Given the description of an element on the screen output the (x, y) to click on. 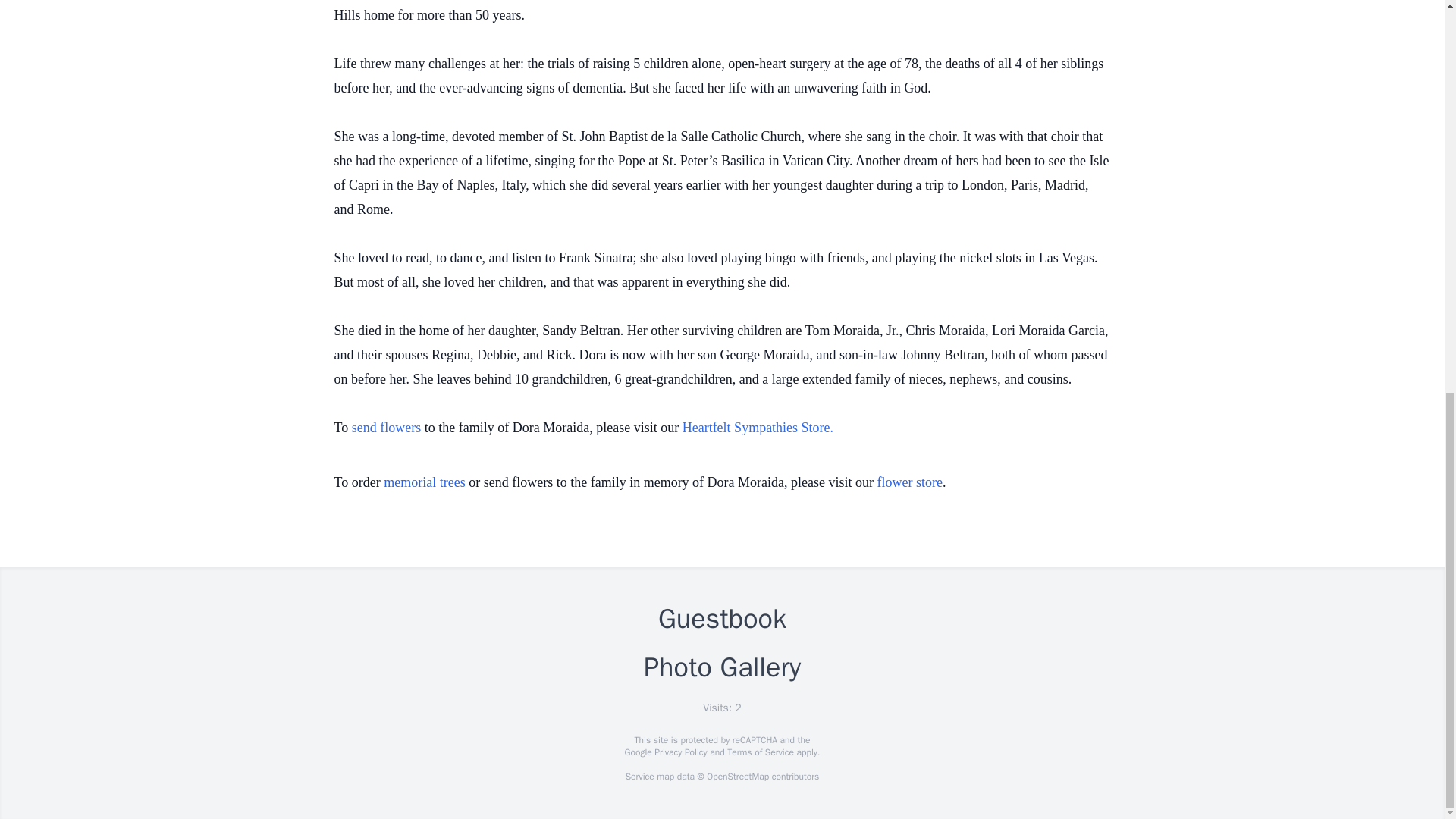
memorial trees (424, 482)
Terms of Service (759, 752)
OpenStreetMap (737, 776)
Heartfelt Sympathies Store. (757, 427)
flower store (909, 482)
Privacy Policy (679, 752)
send flowers (388, 427)
